Given the description of an element on the screen output the (x, y) to click on. 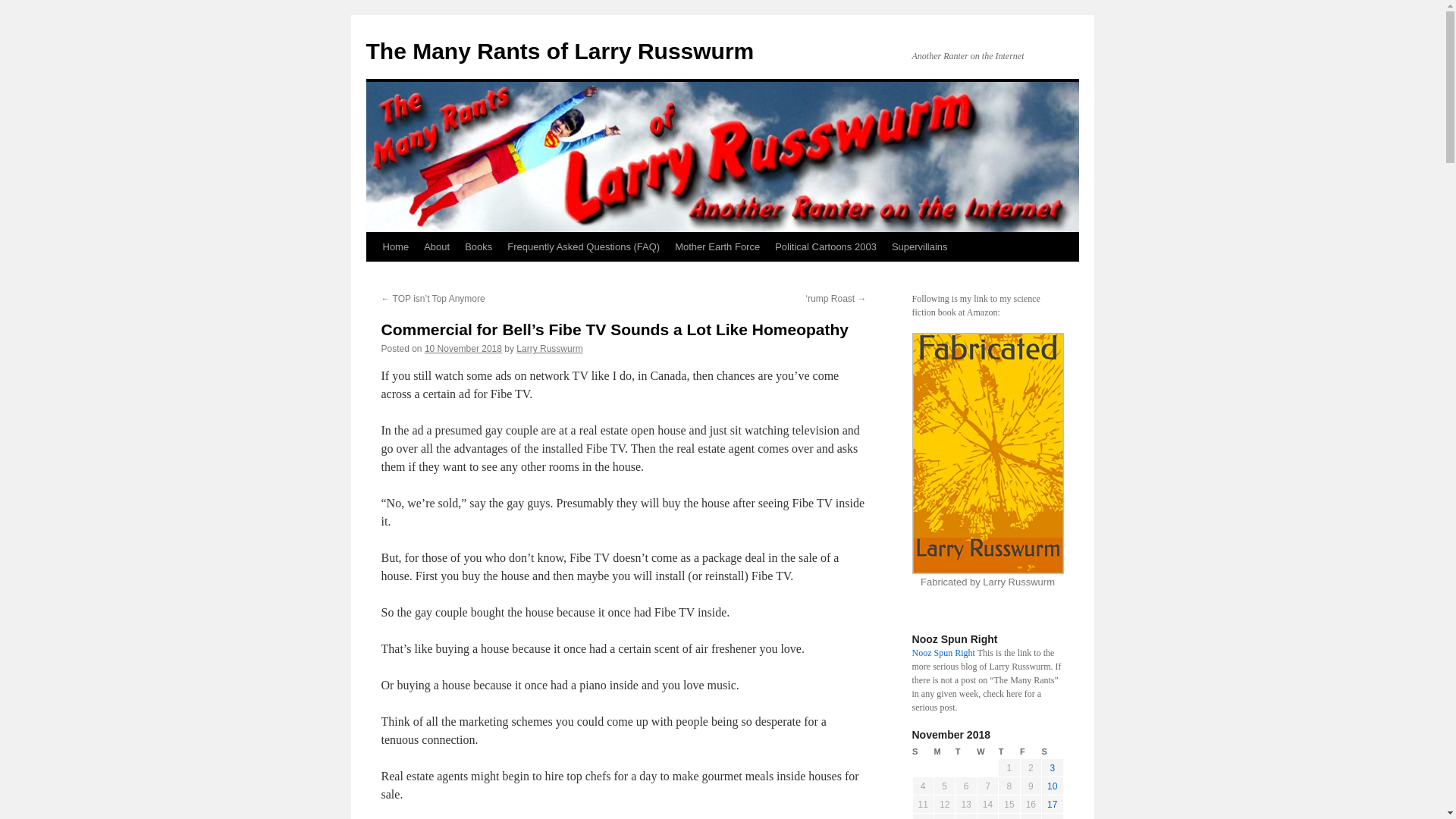
Friday (1030, 751)
About (436, 246)
Mother Earth Force (716, 246)
Larry Russwurm (549, 348)
10 November 2018 (463, 348)
The Many Rants of Larry Russwurm (559, 50)
Political Cartoons 2003 (825, 246)
8:49 pm (463, 348)
Supervillains (919, 246)
Home (395, 246)
